Given the description of an element on the screen output the (x, y) to click on. 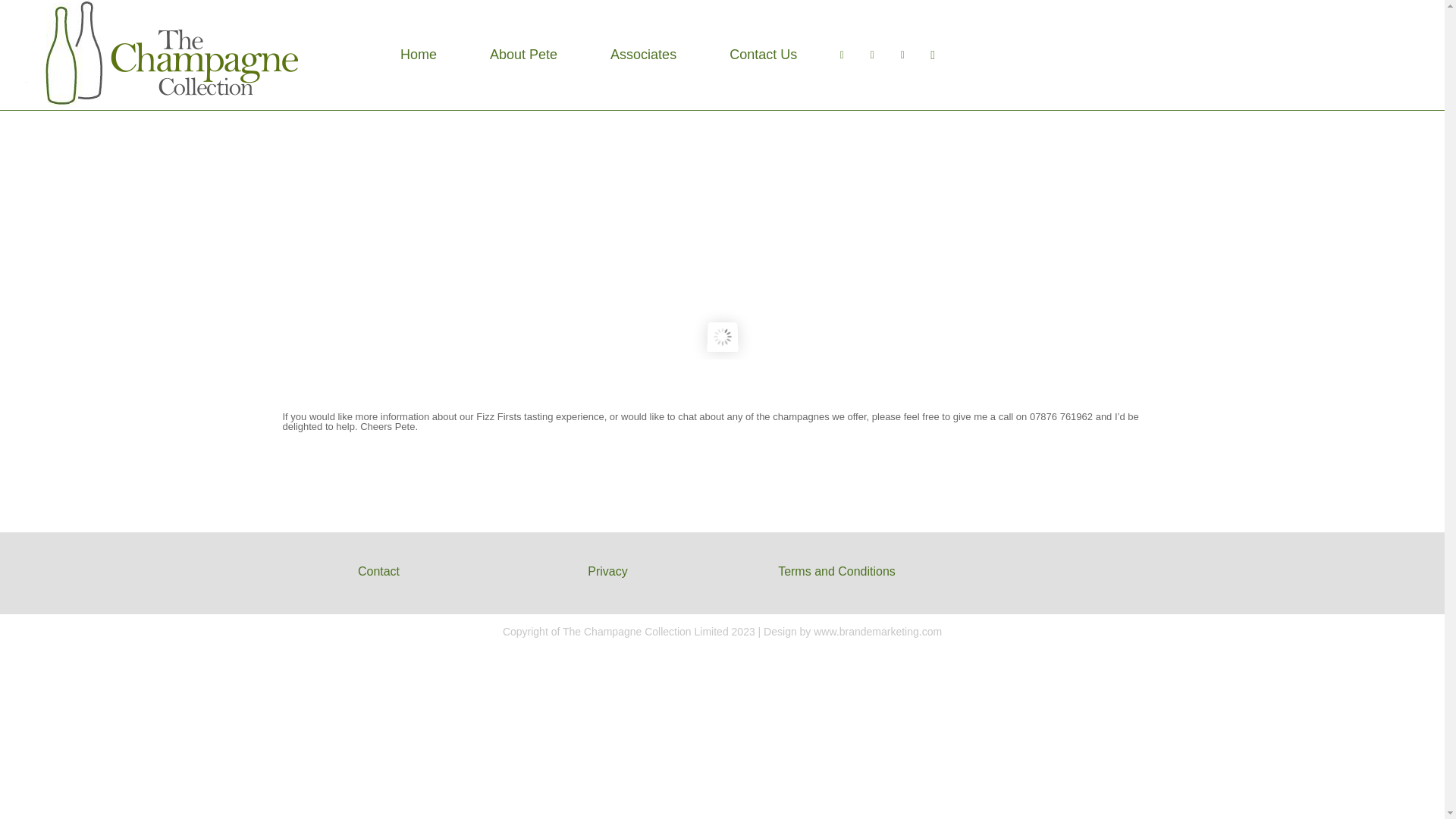
About Pete (523, 54)
 Follow on Twitter (842, 54)
 Follow on Instagram (901, 54)
 Follow on Facebook (871, 54)
The Champagne Collection (170, 53)
Terms and Conditions (836, 571)
Associates (643, 54)
 Follow on Facebook (721, 661)
Privacy (607, 571)
 Follow on Twitter (691, 661)
Contact (378, 571)
Contact Us (763, 54)
Home (418, 54)
 Follow on Instagram (751, 661)
